Given the description of an element on the screen output the (x, y) to click on. 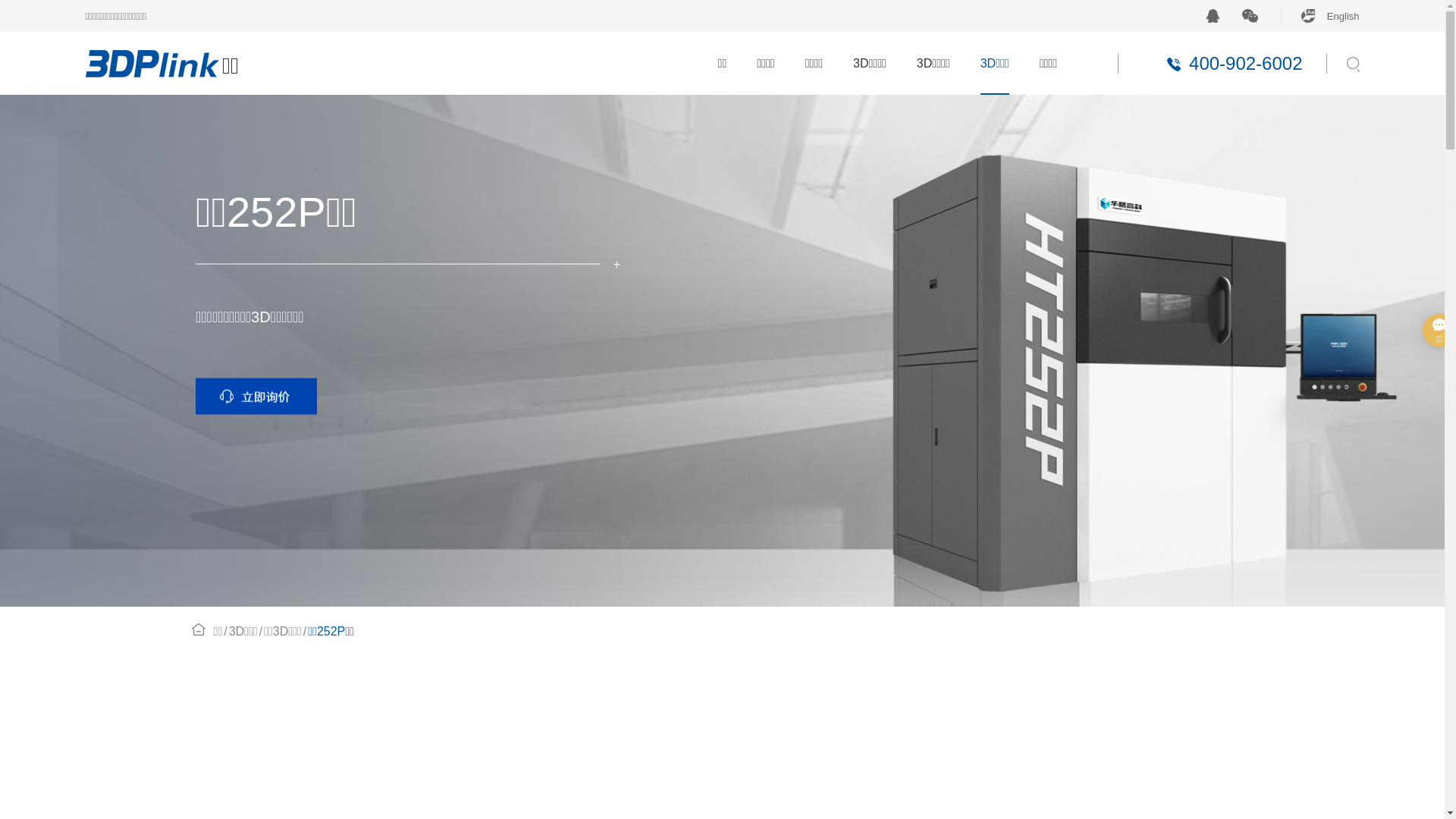
English Element type: text (1319, 15)
